Given the description of an element on the screen output the (x, y) to click on. 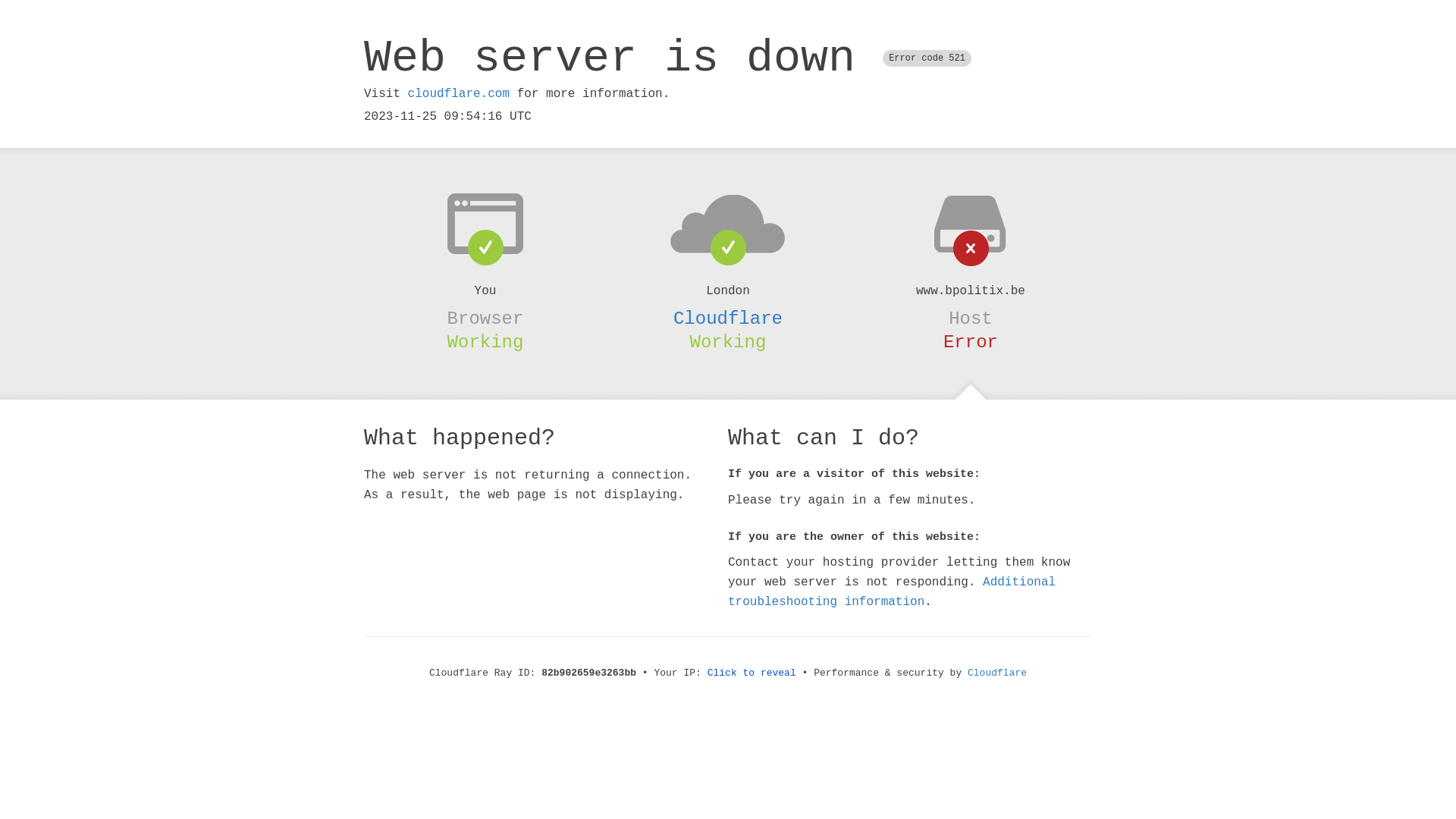
Click to reveal Element type: text (751, 672)
cloudflare.com Element type: text (458, 93)
Cloudflare Element type: text (996, 672)
Additional troubleshooting information Element type: text (891, 591)
Cloudflare Element type: text (727, 318)
